Given the description of an element on the screen output the (x, y) to click on. 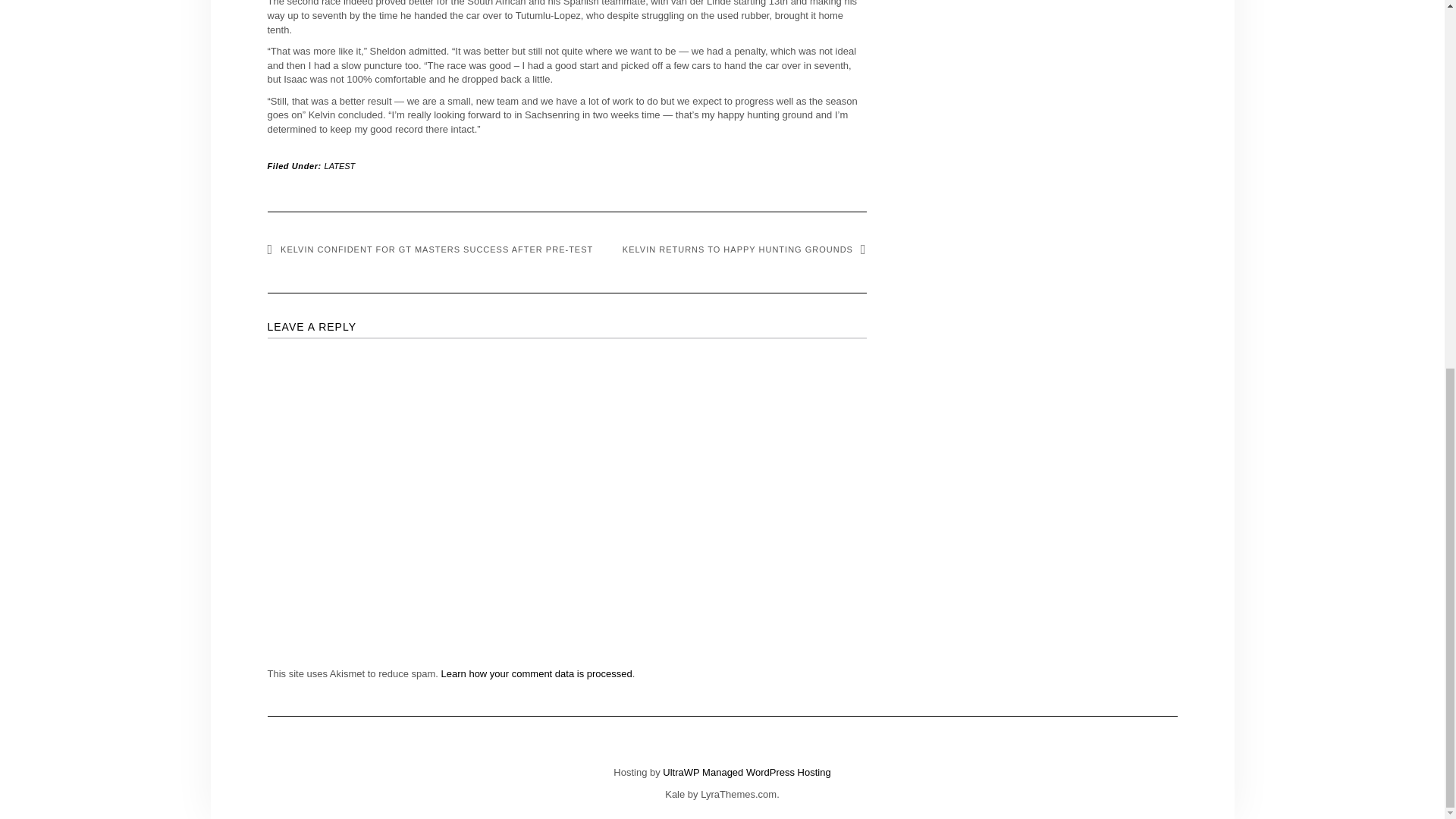
Learn how your comment data is processed (536, 673)
UltraWP Managed WordPress Hosting (745, 772)
KELVIN RETURNS TO HAPPY HUNTING GROUNDS (744, 248)
KELVIN CONFIDENT FOR GT MASTERS SUCCESS AFTER PRE-TEST (429, 248)
LATEST (339, 165)
Kale (674, 794)
